Given the description of an element on the screen output the (x, y) to click on. 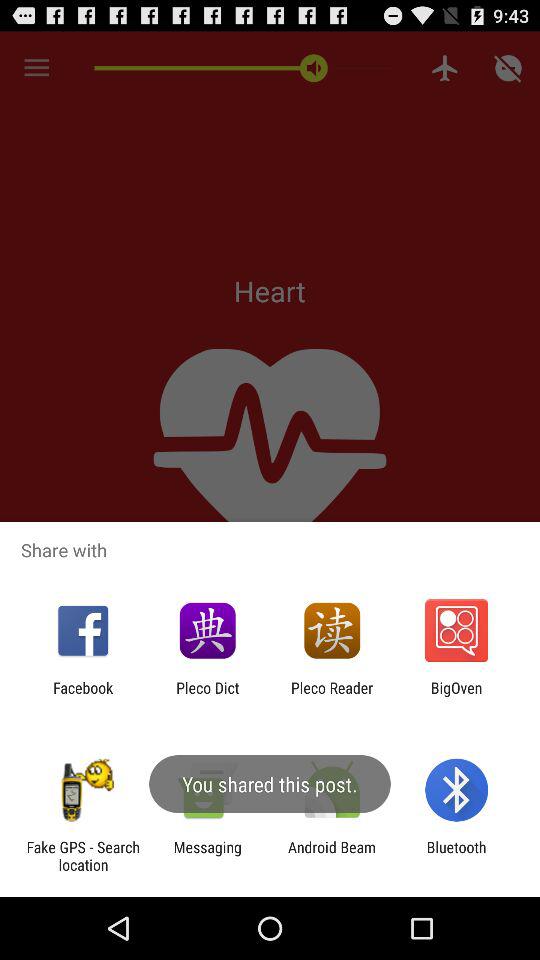
swipe to bigoven icon (456, 696)
